Given the description of an element on the screen output the (x, y) to click on. 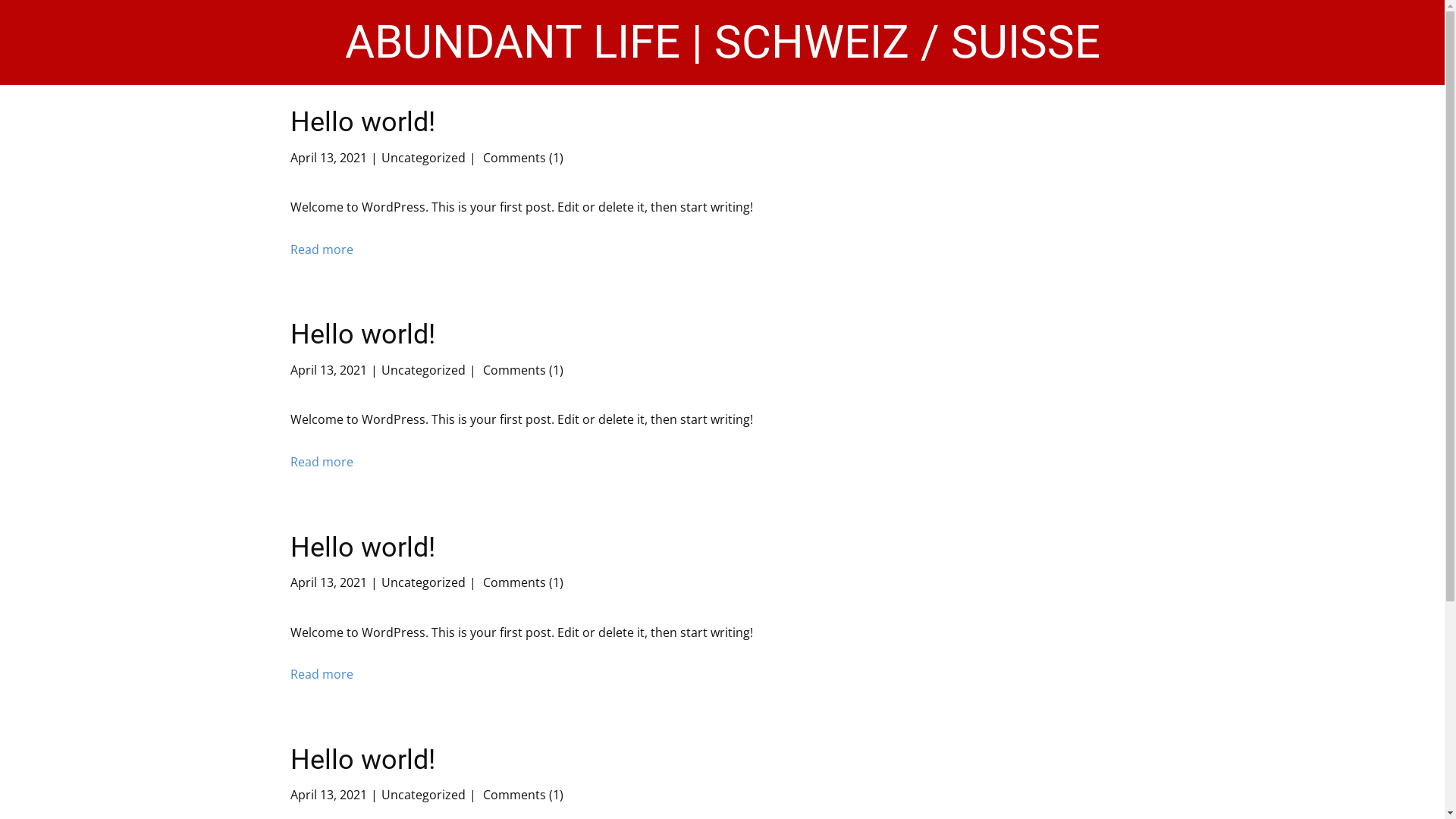
Read more Element type: text (320, 250)
Comments (1) Element type: text (520, 157)
Comments (1) Element type: text (520, 794)
Hello world! Element type: text (361, 547)
Read more Element type: text (320, 674)
Uncategorized Element type: text (422, 369)
Comments (1) Element type: text (520, 582)
Hello world! Element type: text (361, 759)
Read more Element type: text (320, 462)
Uncategorized Element type: text (422, 157)
Hello world! Element type: text (361, 122)
Uncategorized Element type: text (422, 794)
Uncategorized Element type: text (422, 582)
Comments (1) Element type: text (520, 369)
Hello world! Element type: text (361, 334)
